Given the description of an element on the screen output the (x, y) to click on. 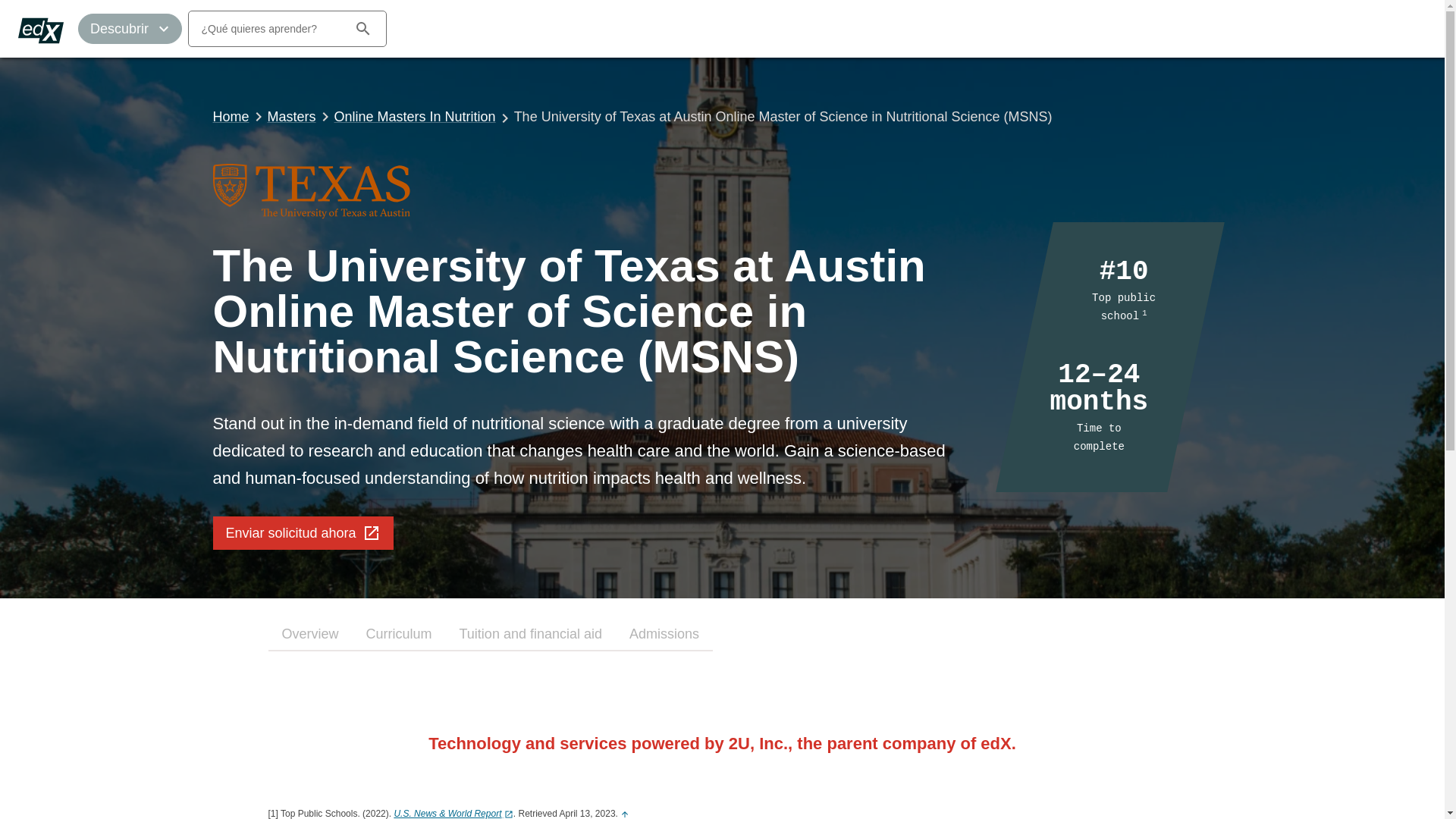
Admissions (664, 633)
Descubrir (130, 28)
Tuition and financial aid (530, 633)
Home (230, 116)
Curriculum (398, 633)
Online Masters In Nutrition (415, 116)
Enviar solicitud ahora (302, 532)
Overview (309, 633)
Masters (291, 116)
